Given the description of an element on the screen output the (x, y) to click on. 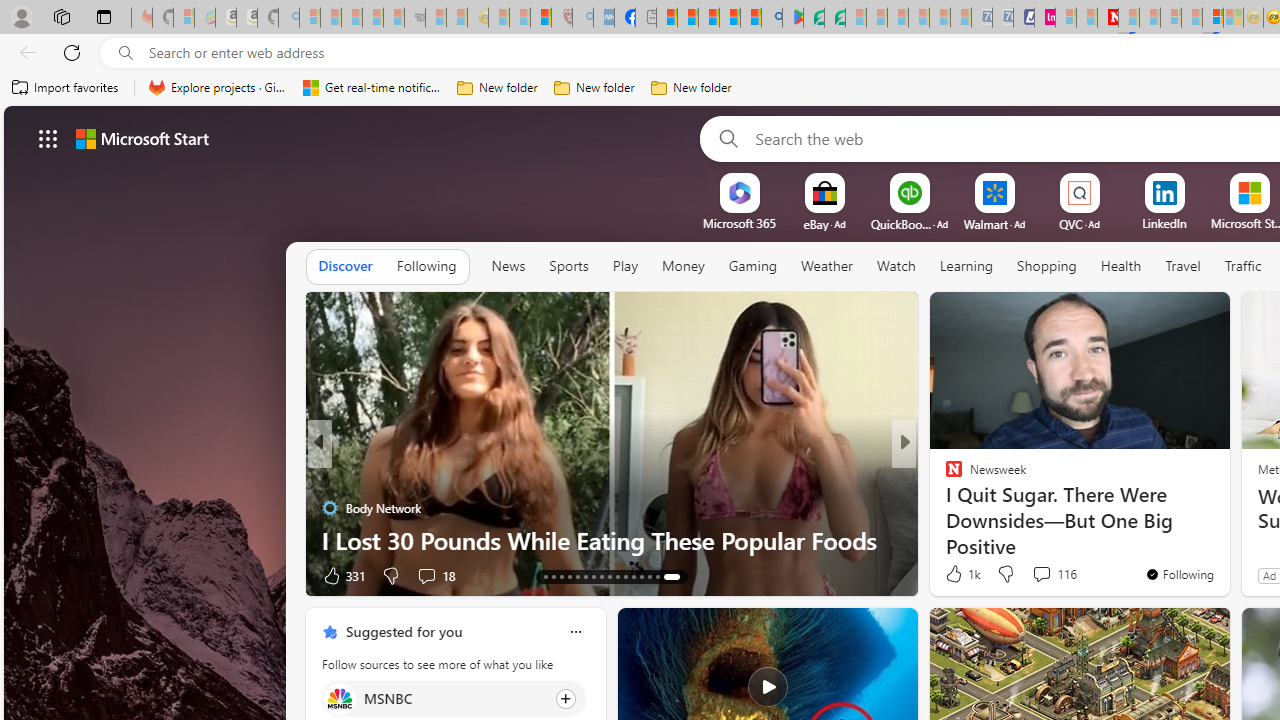
AutomationID: tab-16 (568, 576)
AutomationID: tab-14 (553, 576)
App launcher (47, 138)
1k Like (961, 574)
Jobs - lastminute.com Investor Portal (1044, 17)
